Given the description of an element on the screen output the (x, y) to click on. 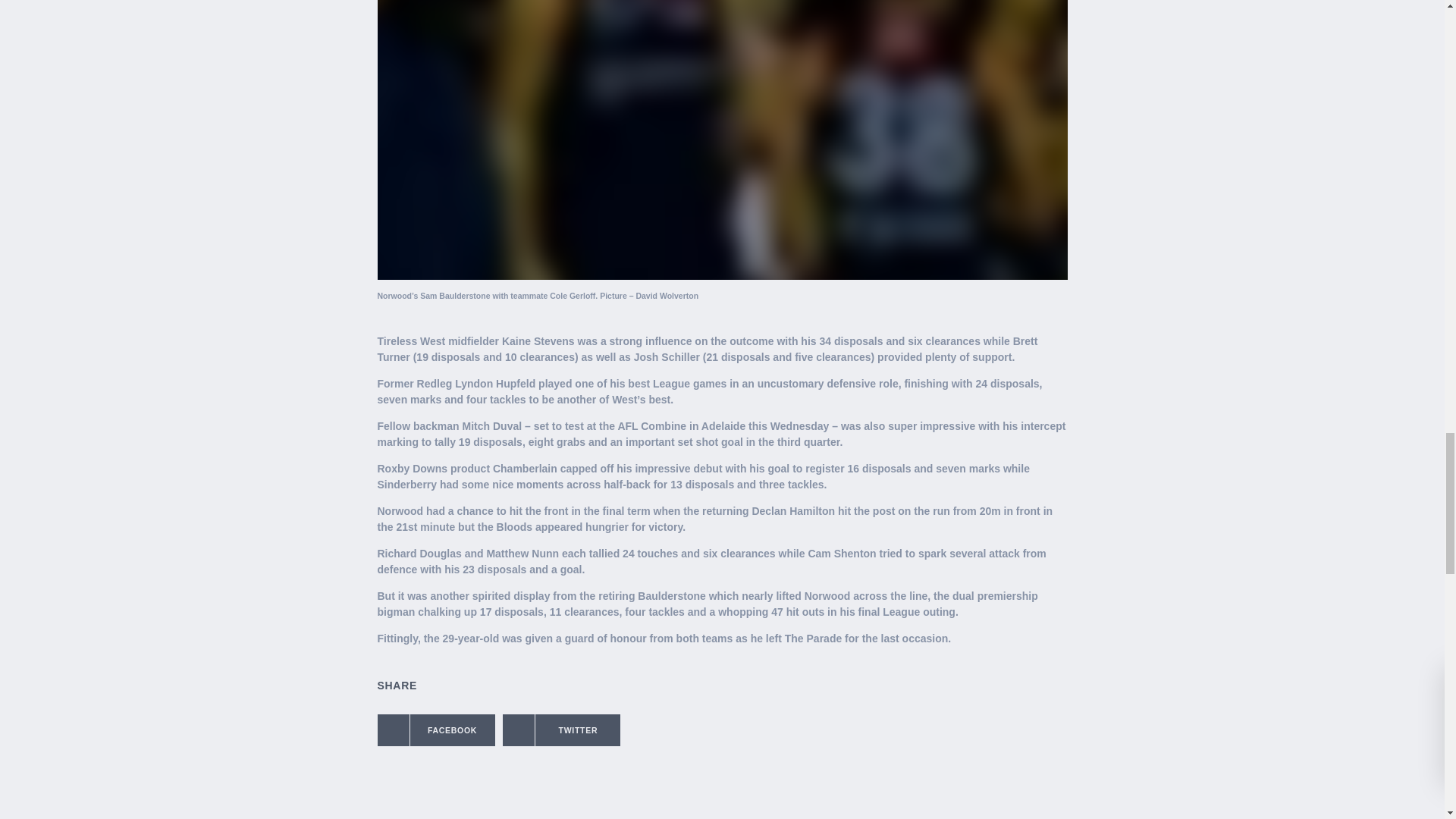
Share this article on Facebook (436, 730)
Share this article on Twitter (561, 730)
